Given the description of an element on the screen output the (x, y) to click on. 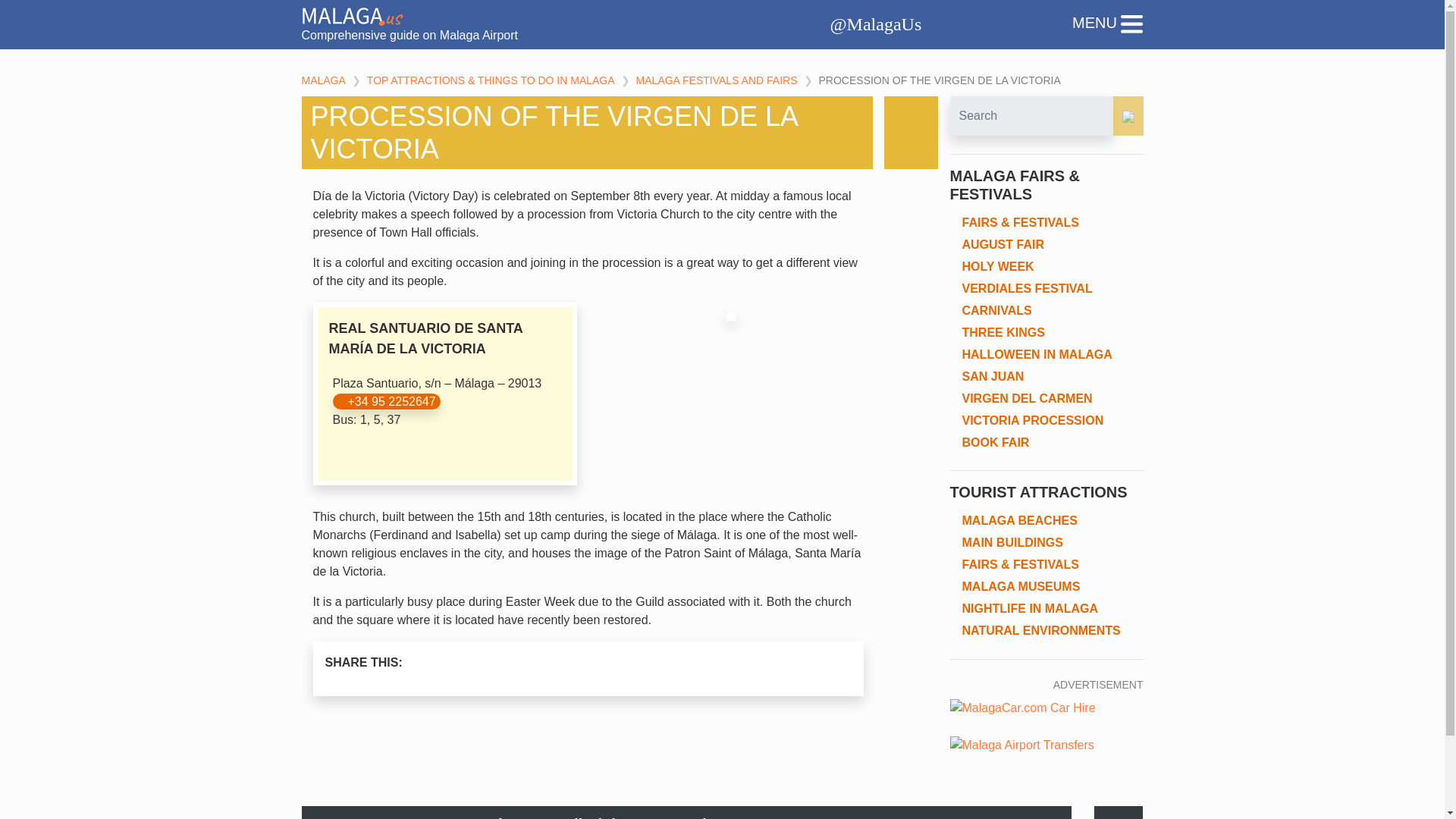
VIRGEN DEL CARMEN (1026, 398)
MENU (1106, 24)
THREE KINGS (1001, 332)
HALLOWEEN IN MALAGA (1036, 354)
Procession of the Virgen de la Victoria (939, 80)
Malaga (323, 80)
MALAGA (323, 80)
SAN JUAN (991, 376)
HOLY WEEK (996, 266)
Malaga Festivals and Fairs (716, 80)
